Given the description of an element on the screen output the (x, y) to click on. 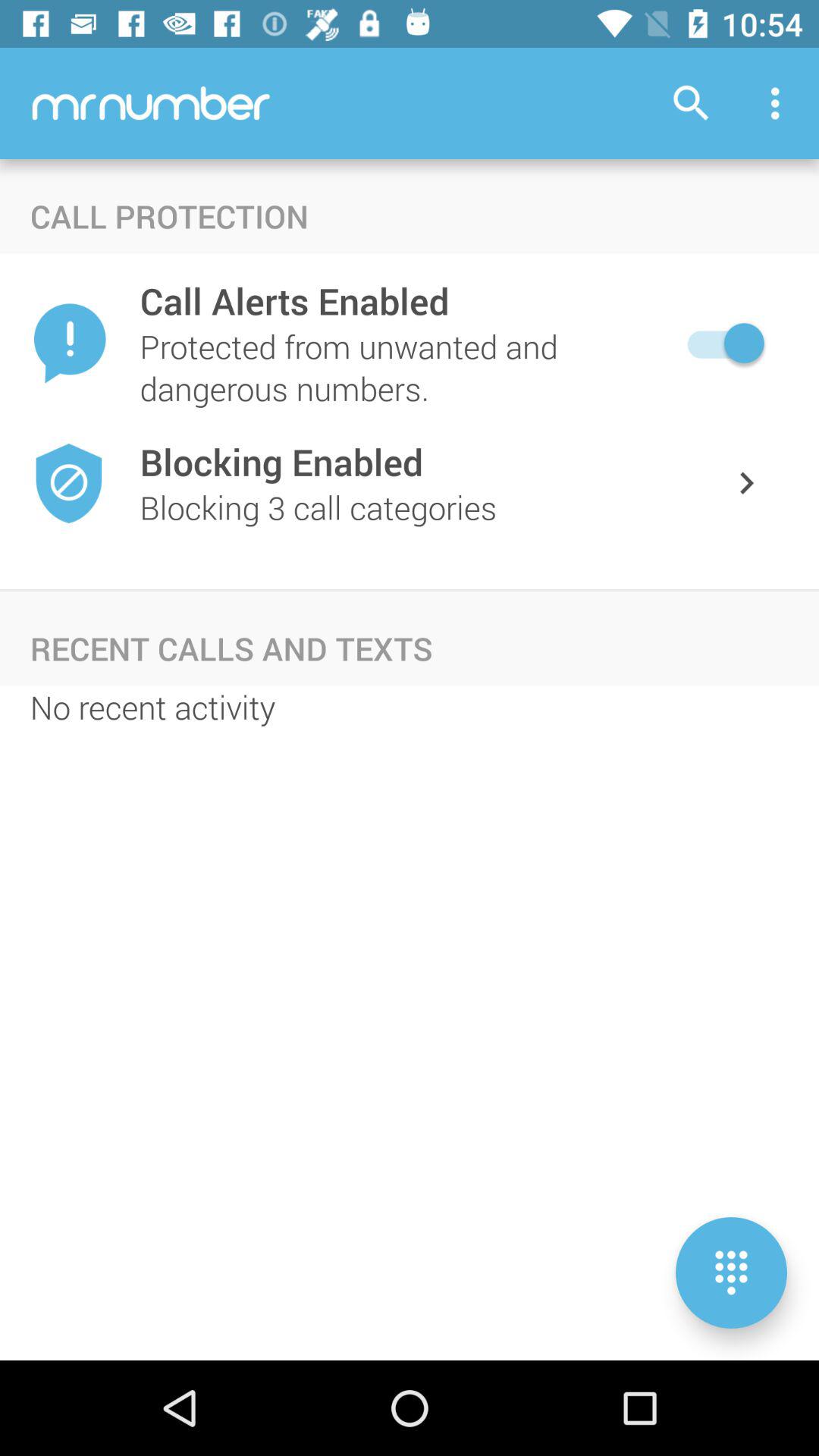
click on the switch which is right to the text call alerts enabled (721, 342)
click on mrnumber (151, 102)
click on second icon at the top right corner (779, 103)
